Given the description of an element on the screen output the (x, y) to click on. 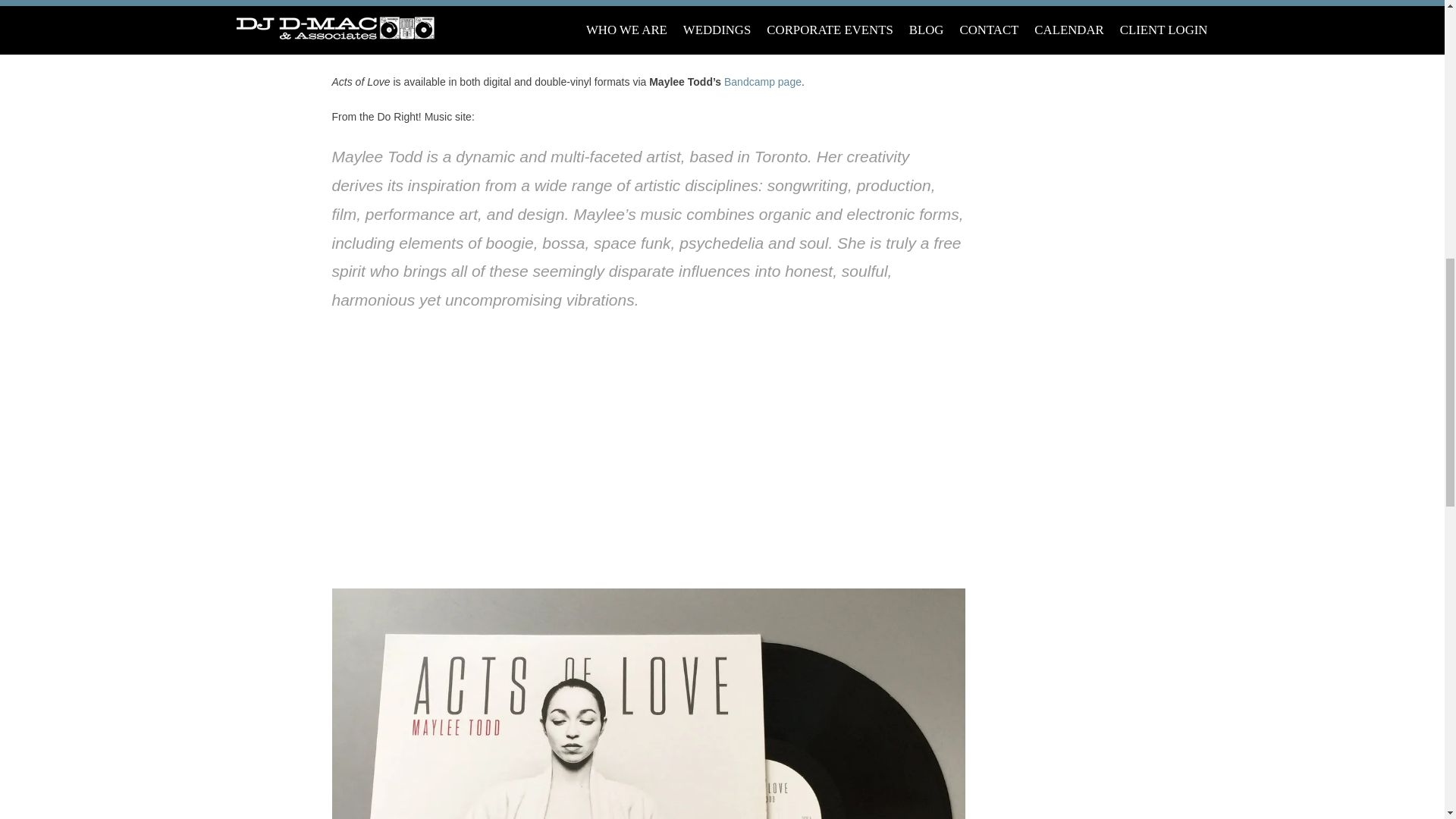
Bandcamp page (762, 81)
